Given the description of an element on the screen output the (x, y) to click on. 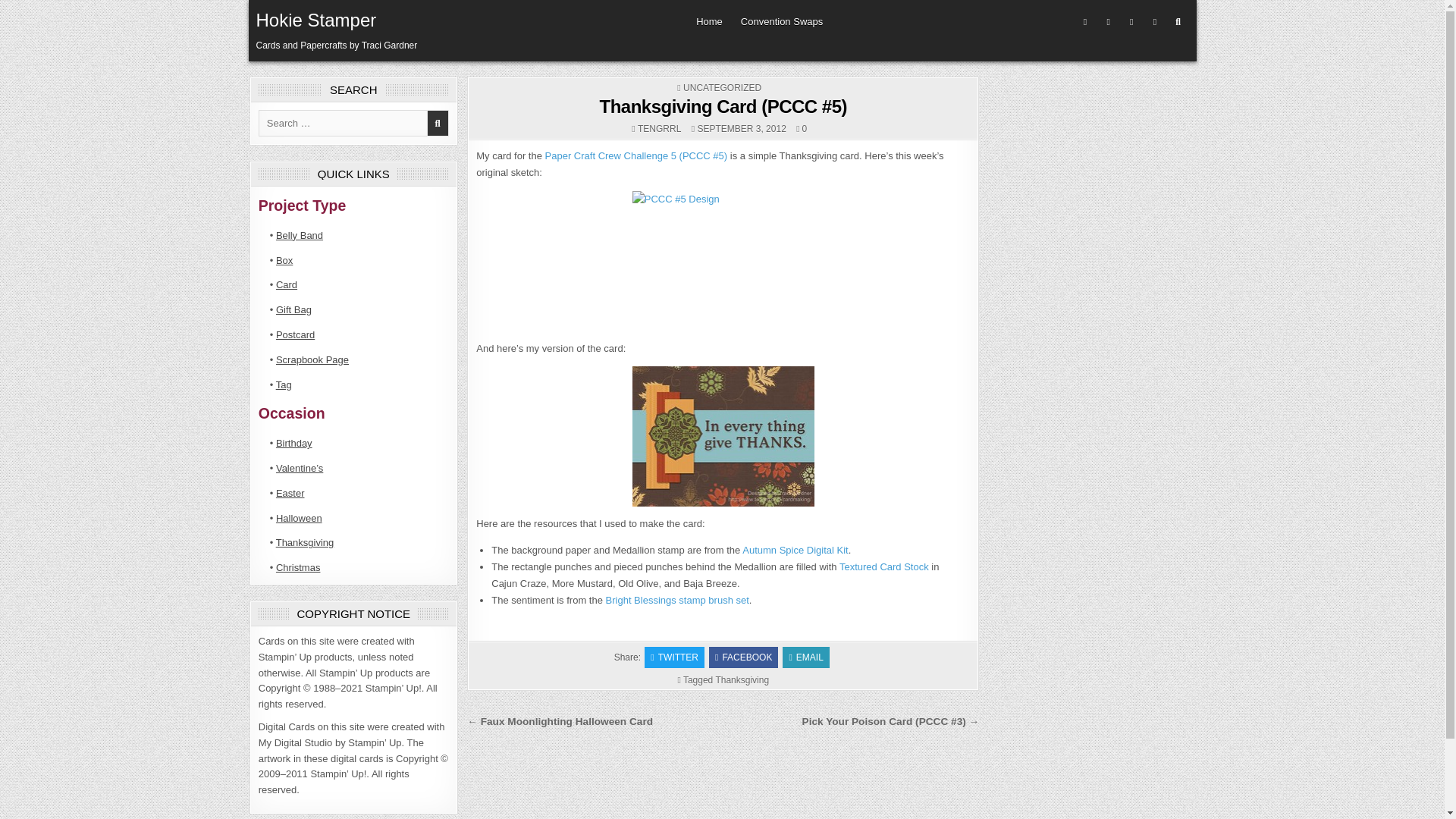
Bright Blessings stamp brush set (677, 600)
Textured Card Stock (884, 566)
UNCATEGORIZED (721, 87)
Textured Card Stock (884, 566)
Like this (801, 128)
Card (286, 284)
Autumn Spice Digital Kit (794, 550)
Convention Swaps (781, 21)
EMAIL (805, 657)
Postcard (295, 334)
